Given the description of an element on the screen output the (x, y) to click on. 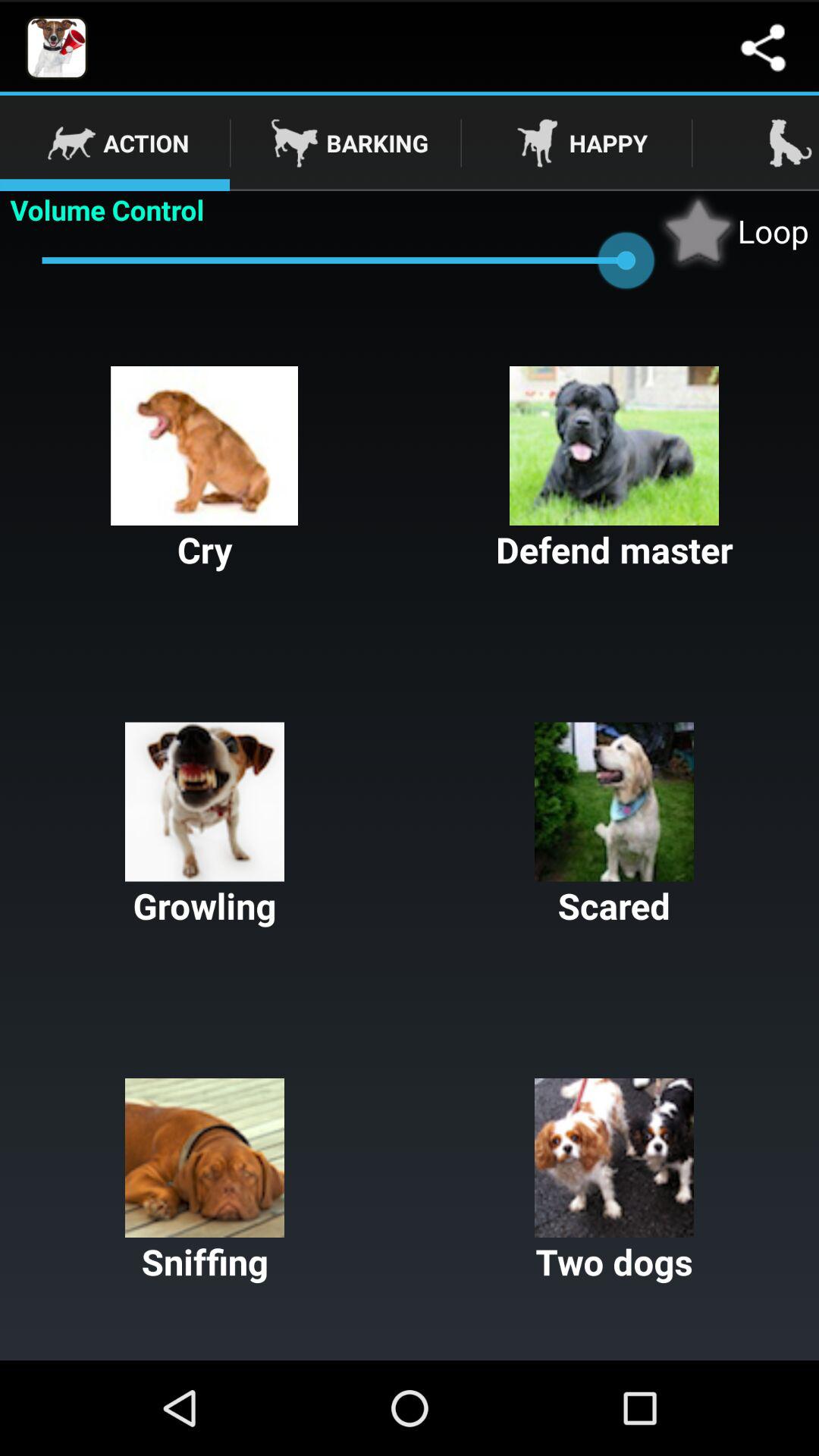
choose item below growling (204, 1181)
